Given the description of an element on the screen output the (x, y) to click on. 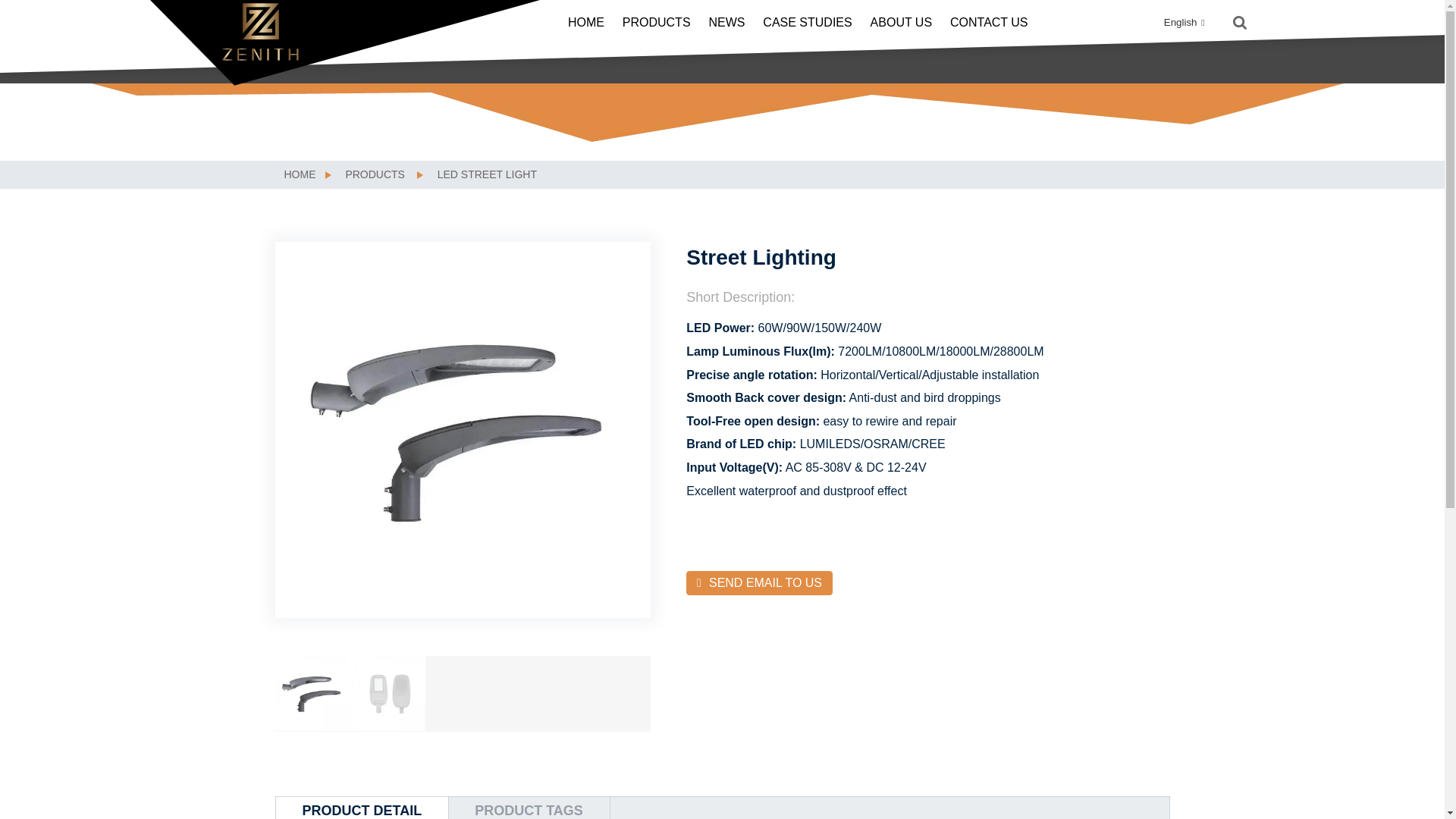
SEND EMAIL TO US (758, 582)
Products (374, 174)
LED STREET LIGHT (487, 174)
CASE STUDIES (806, 22)
CONTACT US (988, 22)
ABOUT US (901, 22)
English (1171, 21)
PRODUCTS (656, 22)
HOME (299, 174)
LED STREET LIGHT (487, 174)
PRODUCTS (374, 174)
